Given the description of an element on the screen output the (x, y) to click on. 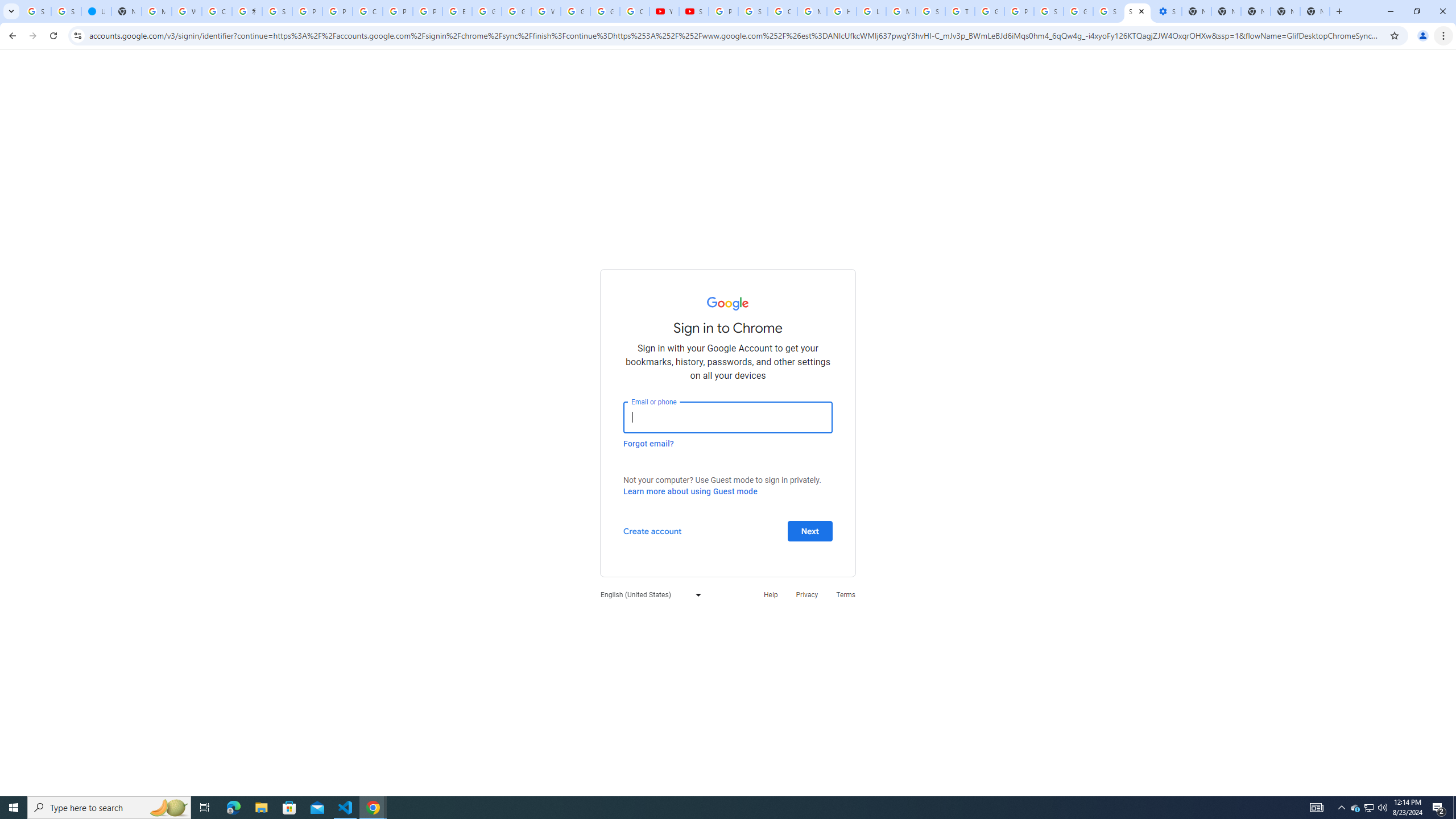
Sign in - Google Accounts (65, 11)
New Tab (1314, 11)
Google Account (604, 11)
Sign in - Google Accounts (36, 11)
Sign in - Google Accounts (1137, 11)
Next (809, 530)
Edit and view right-to-left text - Google Docs Editors Help (456, 11)
Settings - Performance (1166, 11)
